Given the description of an element on the screen output the (x, y) to click on. 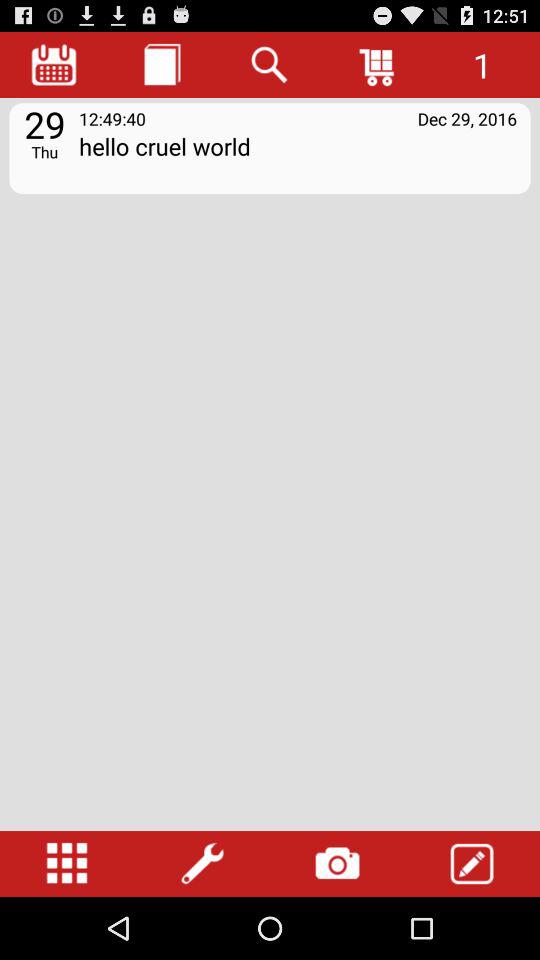
tap icon next to 29 icon (298, 159)
